Given the description of an element on the screen output the (x, y) to click on. 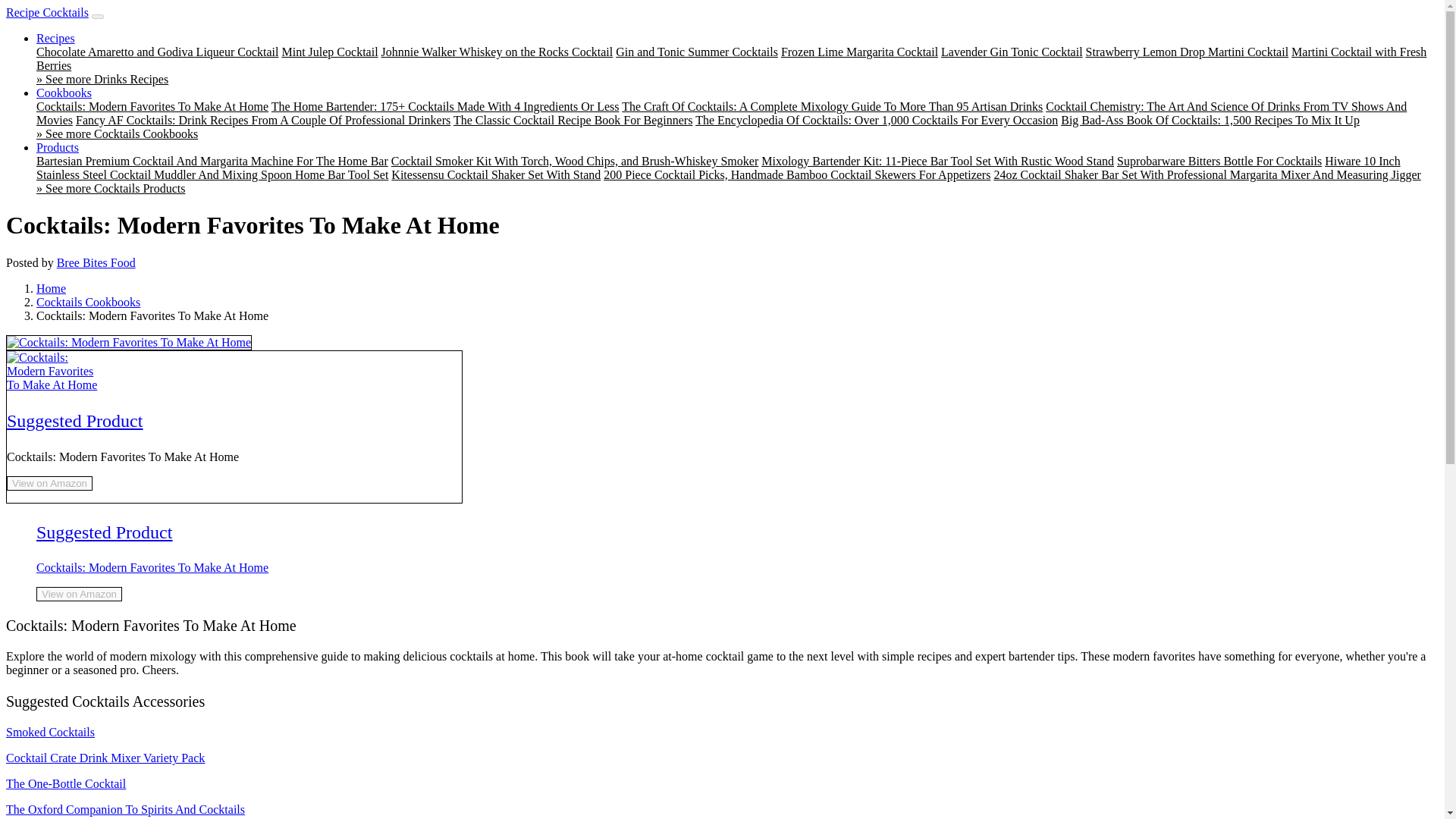
View on Amazon (50, 481)
Frozen Lime Margarita Cocktail (858, 51)
Bree Bites Food (95, 262)
Mint Julep Cocktail (329, 51)
Johnnie Walker Whiskey on the Rocks Cocktail (496, 51)
Johnnie Walker Whiskey on the Rocks Cocktail (496, 51)
Cookbooks (63, 92)
The Classic Cocktail Recipe Book For Beginners (572, 119)
Martini Cocktail with Fresh Berries (731, 58)
Products (57, 146)
